Given the description of an element on the screen output the (x, y) to click on. 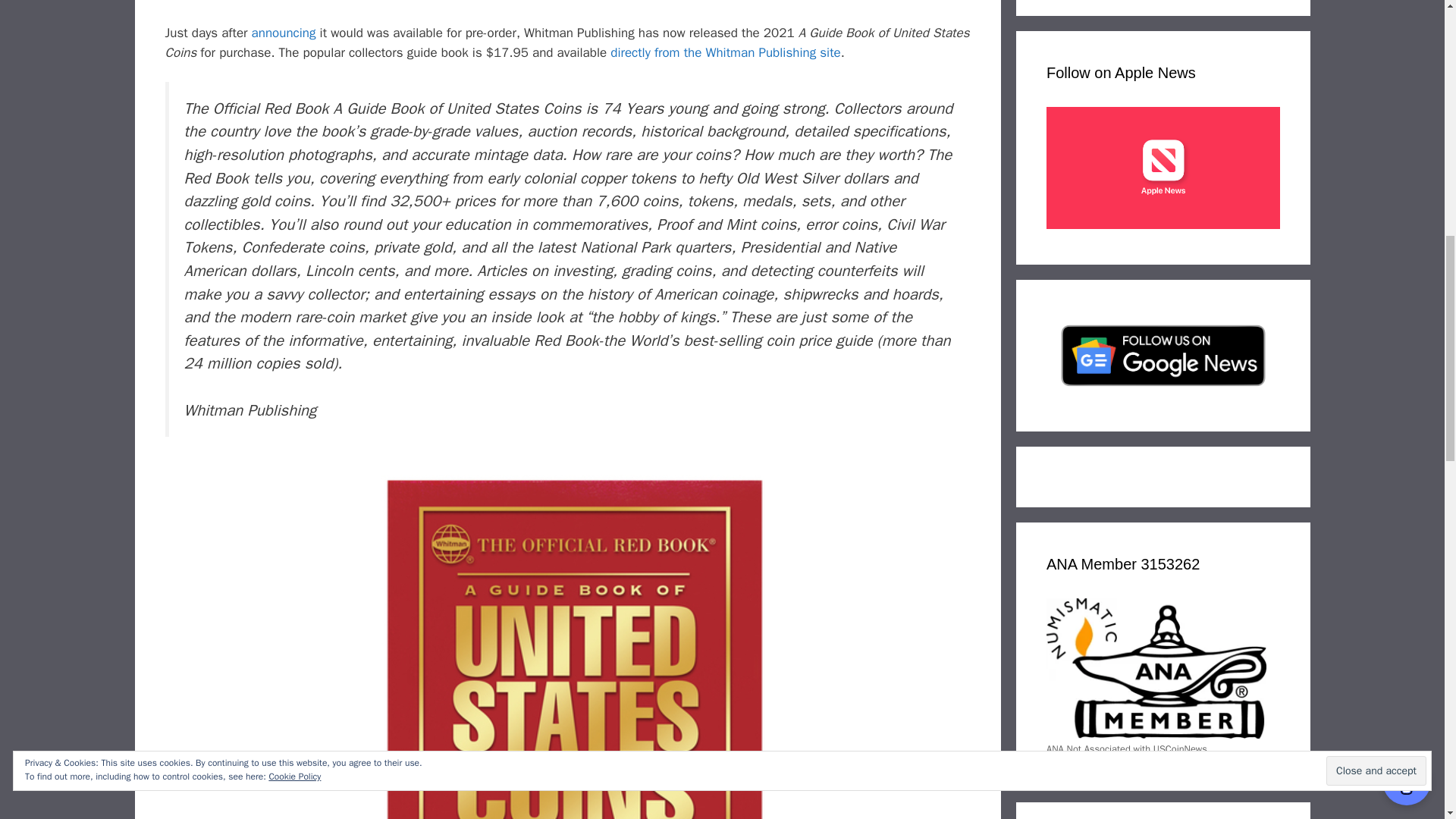
announcing (283, 32)
directly from the Whitman Publishing site (725, 52)
